Given the description of an element on the screen output the (x, y) to click on. 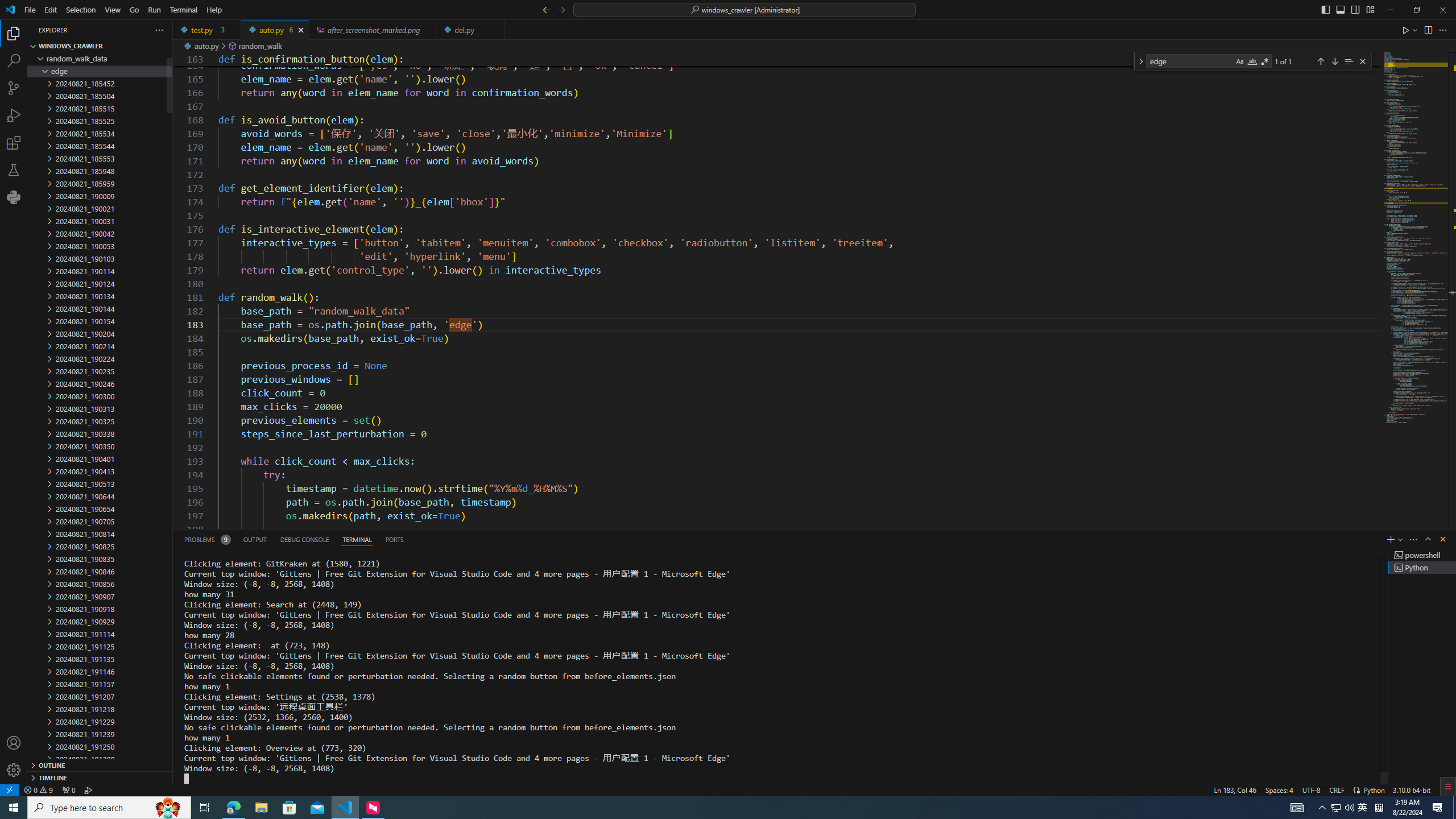
Testing (13, 169)
Debug Console (Ctrl+Shift+Y) (304, 539)
Explorer (Ctrl+Shift+E) (13, 33)
UTF-8 (1310, 789)
Close (Escape) (1362, 60)
Maximize Panel Size (1428, 539)
Warnings: 9 (37, 789)
test.py (207, 29)
after_screenshot_marked.png, preview (372, 29)
Find in Selection (Alt+L) (1348, 60)
Toggle Primary Side Bar (Ctrl+B) (1325, 9)
Outline Section (99, 764)
Ln 183, Col 46 (1235, 789)
Previous Match (Shift+Enter) (1320, 60)
